Given the description of an element on the screen output the (x, y) to click on. 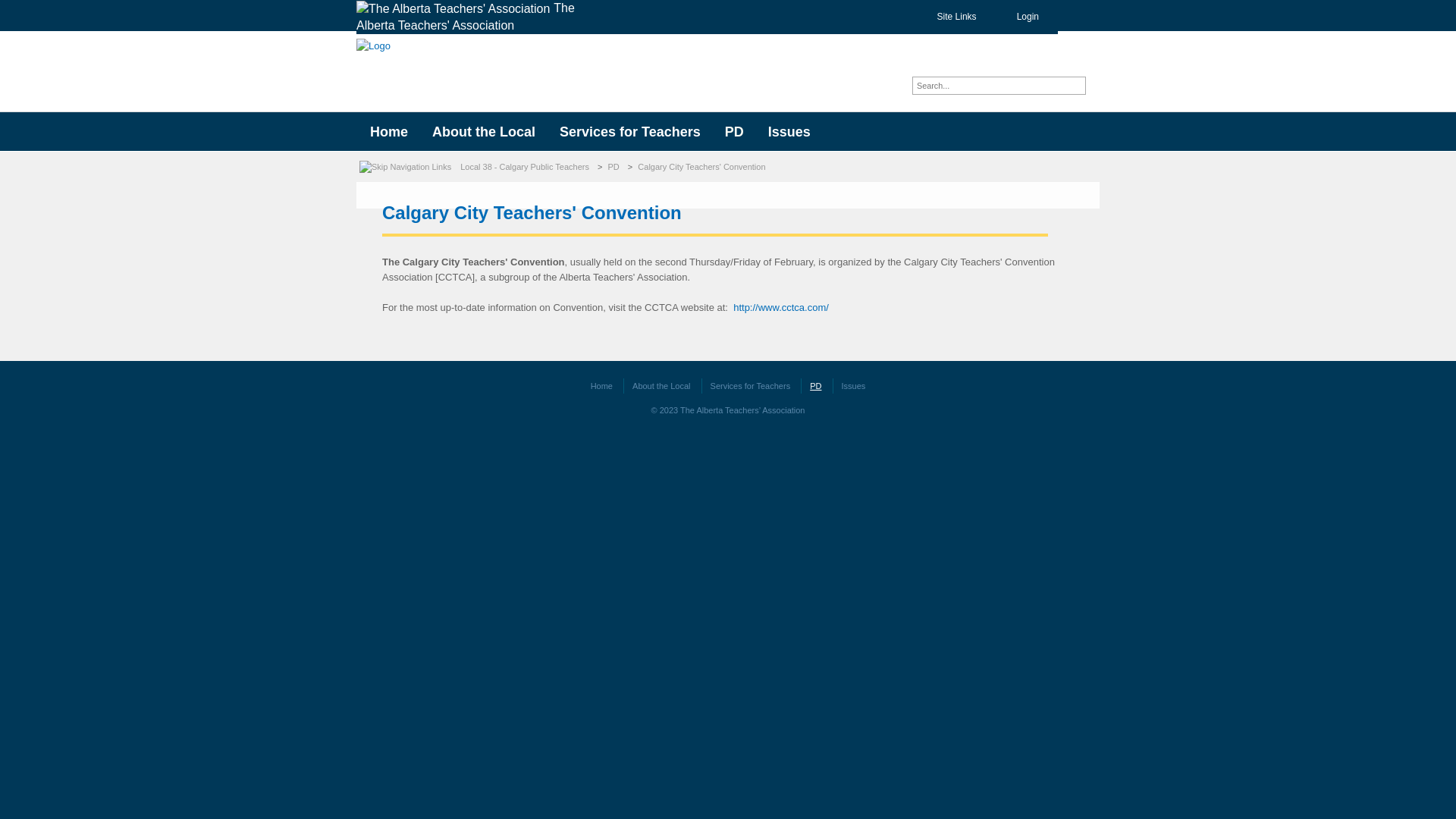
About the Local Element type: text (483, 131)
Home Element type: text (601, 385)
Search... Element type: hover (992, 85)
PD Element type: text (615, 166)
Local 38 - Calgary Public Teachers Element type: text (526, 166)
The Alberta Teachers' Association Element type: text (475, 17)
About the Local Element type: text (660, 385)
Services for Teachers Element type: text (629, 131)
Issues Element type: text (789, 131)
Calgary City Teachers' Convention Element type: text (702, 166)
PD Element type: text (814, 385)
Issues Element type: text (853, 385)
http://www.cctca.com/ Element type: text (780, 307)
Home Element type: text (388, 131)
Login Element type: text (1018, 16)
PD Element type: text (734, 131)
Site Links Element type: text (947, 16)
Search Element type: hover (1076, 85)
Services for Teachers Element type: text (750, 385)
